Given the description of an element on the screen output the (x, y) to click on. 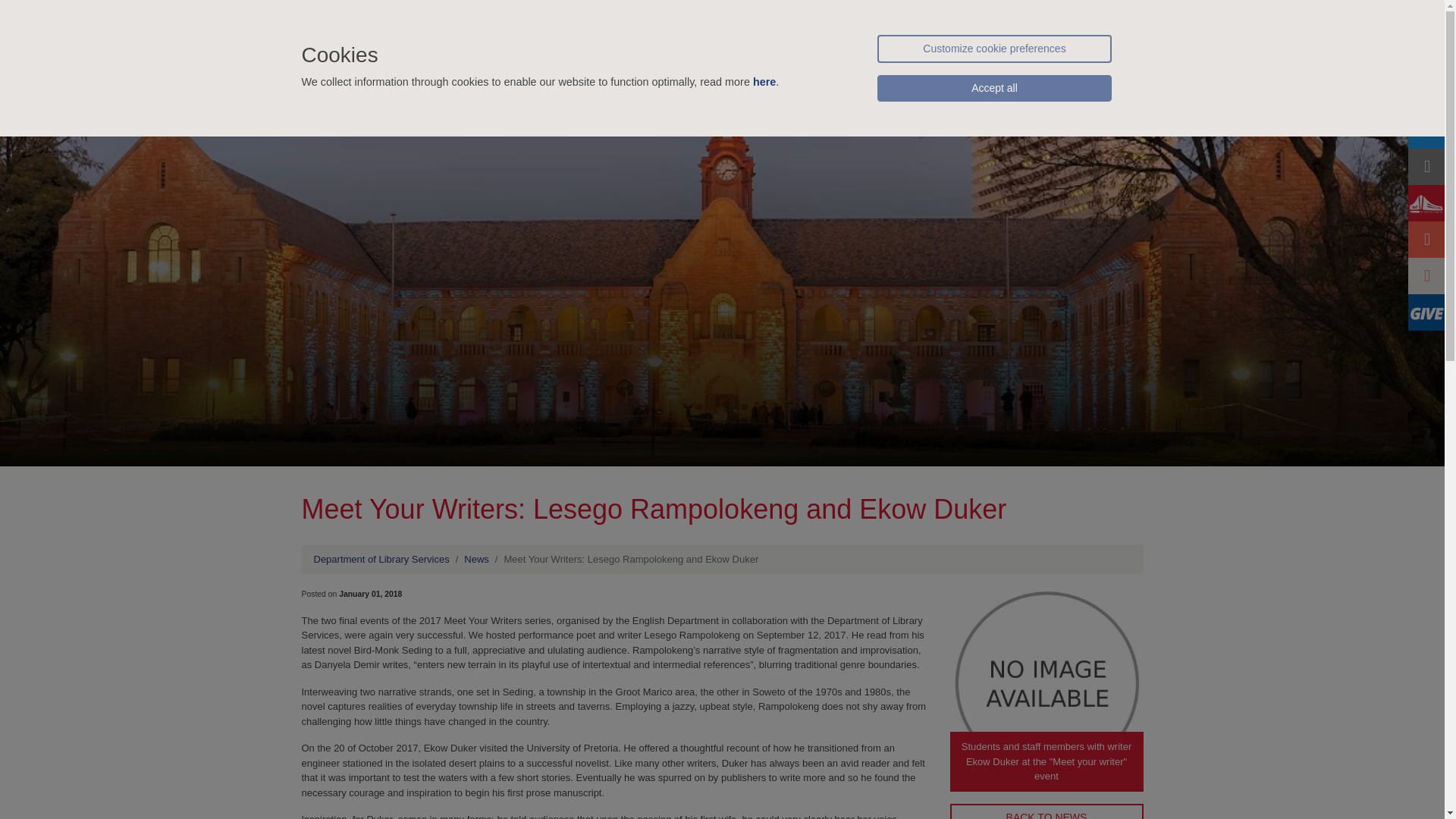
My UP Login (848, 18)
Department of Library Services (532, 18)
BACK TO NEWS (1045, 811)
Department of Library Services (381, 559)
A-Z Index (1114, 18)
News (476, 559)
here (764, 81)
Accept all (994, 88)
Customize cookie preferences (994, 49)
